Given the description of an element on the screen output the (x, y) to click on. 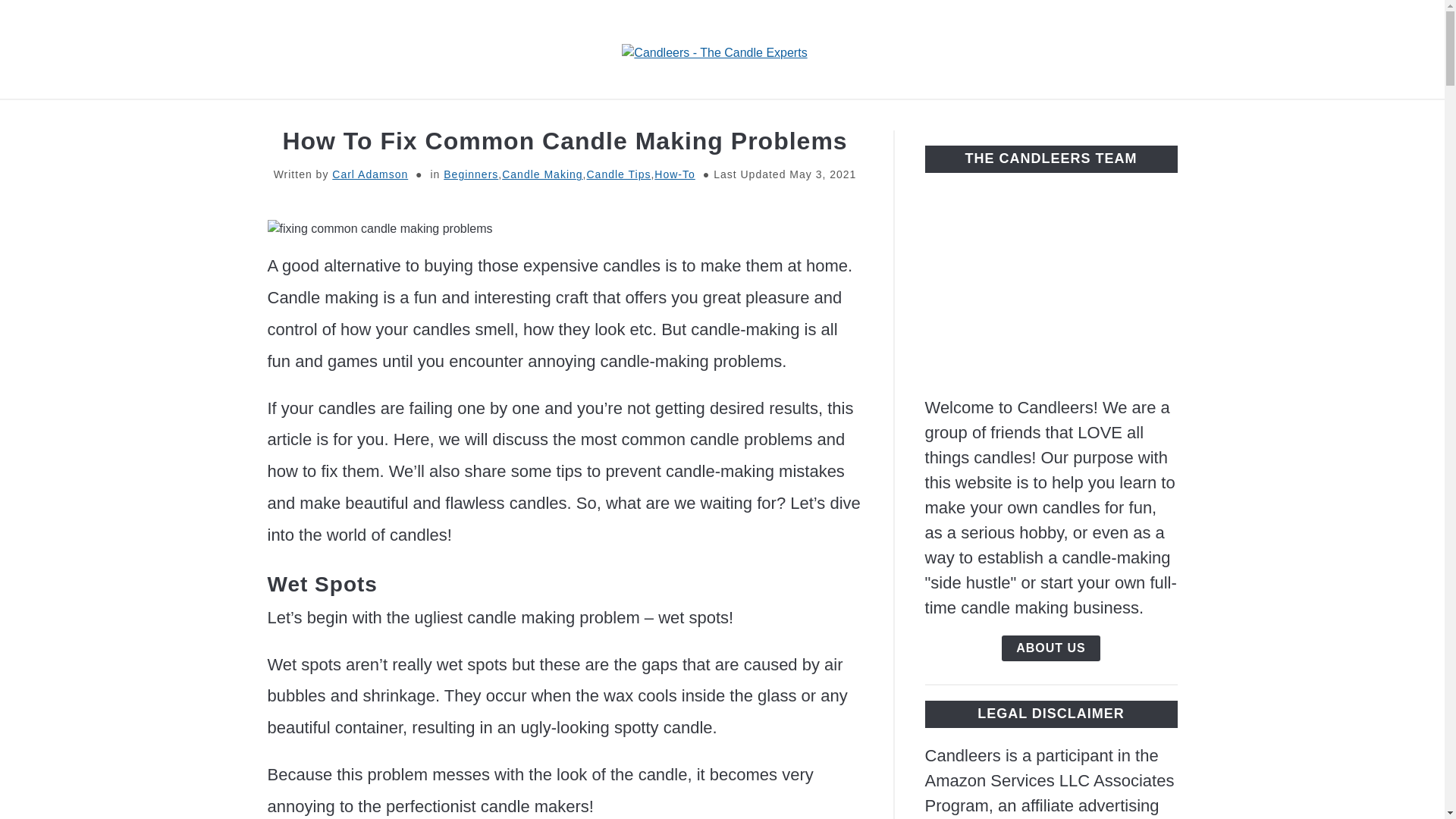
CANDLE MAKING SUPPLIES NEAR YOU (457, 117)
Beginners (470, 174)
ABOUT US (1050, 647)
Candle Tips (618, 174)
Carl Adamson (369, 174)
Candle Making (542, 174)
CANDLE MAKING CALCULATOR (721, 117)
CANDLE MAKING PROFIT CALCULATOR (985, 117)
How-To (673, 174)
Search (1203, 49)
